Given the description of an element on the screen output the (x, y) to click on. 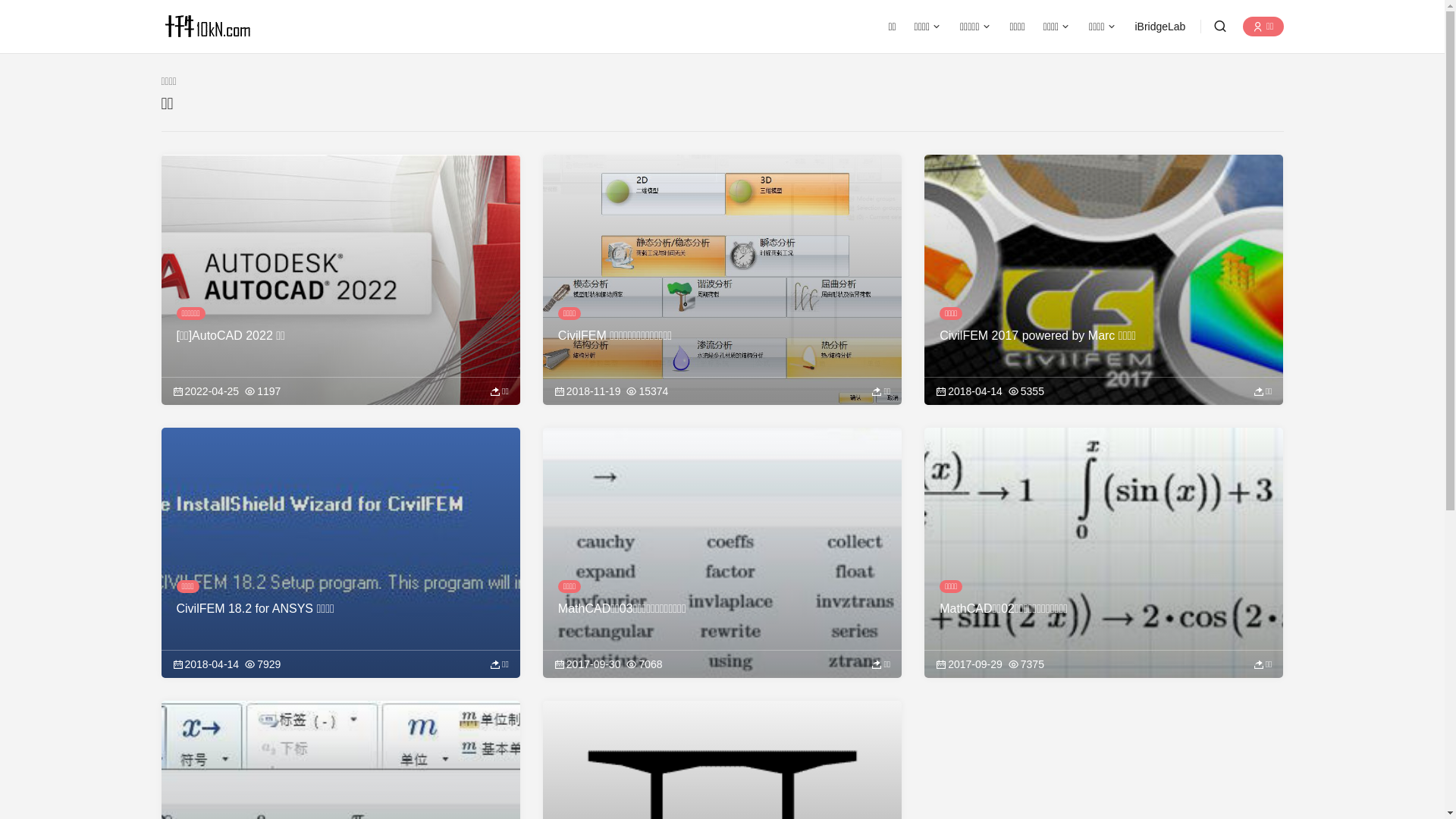
2018-11-19 Element type: text (587, 390)
7375 Element type: text (1026, 663)
7929 Element type: text (262, 663)
7068 Element type: text (644, 663)
2022-04-25 Element type: text (205, 390)
1197 Element type: text (262, 390)
2017-09-30 Element type: text (587, 663)
2018-04-14 Element type: text (205, 663)
iBridgeLab Element type: text (1159, 26)
15374 Element type: text (647, 390)
2018-04-14 Element type: text (968, 390)
2017-09-29 Element type: text (968, 663)
5355 Element type: text (1026, 390)
